Given the description of an element on the screen output the (x, y) to click on. 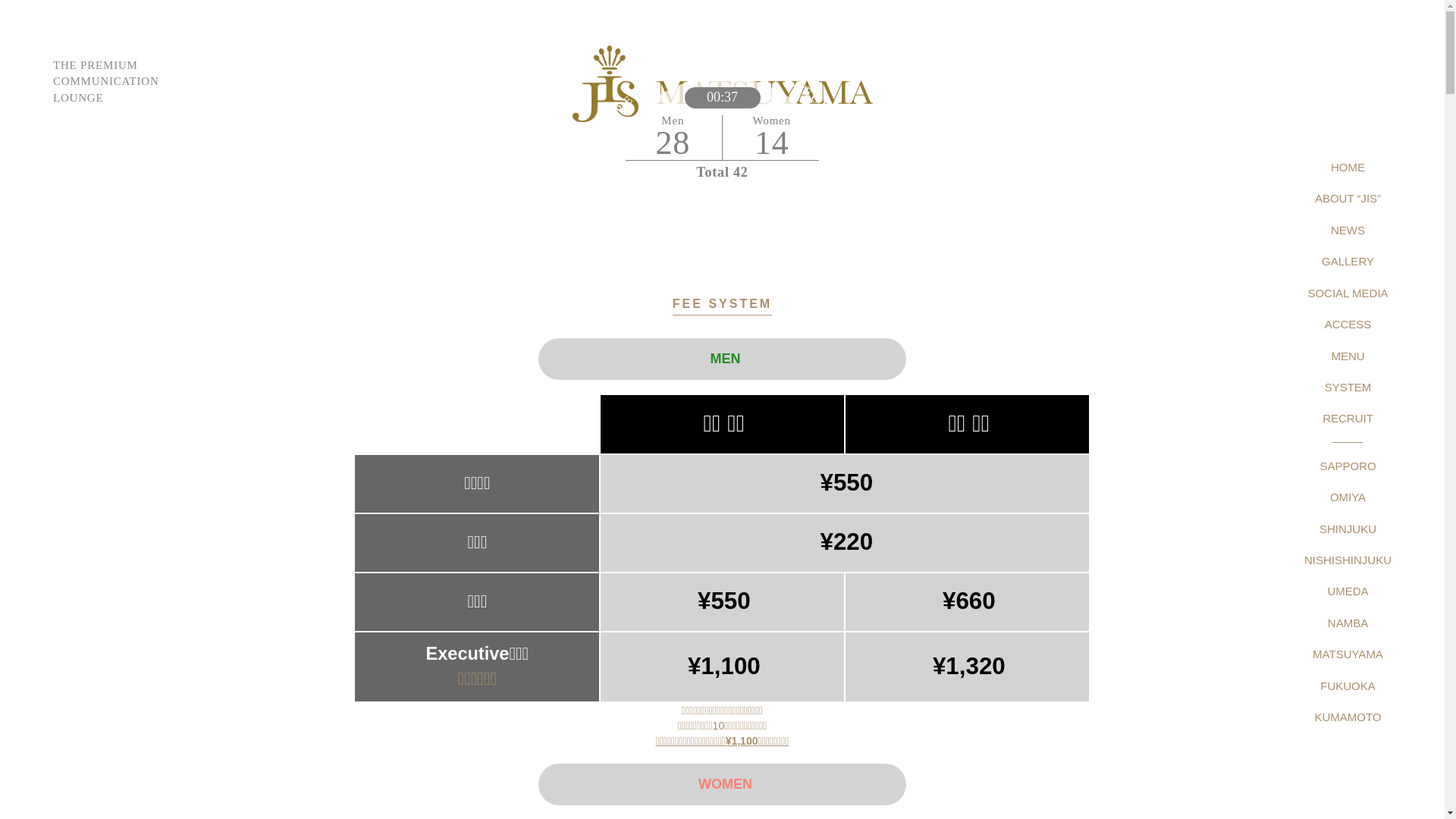
NEWS Element type: text (1347, 229)
UMEDA Element type: text (1347, 590)
SYSTEM Element type: text (1347, 386)
RECRUIT Element type: text (1347, 417)
GALLERY Element type: text (1347, 260)
OMIYA Element type: text (1347, 496)
SAPPORO Element type: text (1347, 465)
FUKUOKA Element type: text (1347, 685)
MATSUYAMA Element type: text (1347, 653)
NAMBA Element type: text (1347, 622)
KUMAMOTO Element type: text (1347, 716)
MENU Element type: text (1347, 355)
ACCESS Element type: text (1347, 323)
NISHISHINJUKU Element type: text (1347, 559)
SHINJUKU Element type: text (1347, 528)
SOCIAL MEDIA Element type: text (1347, 292)
HOME Element type: text (1347, 166)
